Given the description of an element on the screen output the (x, y) to click on. 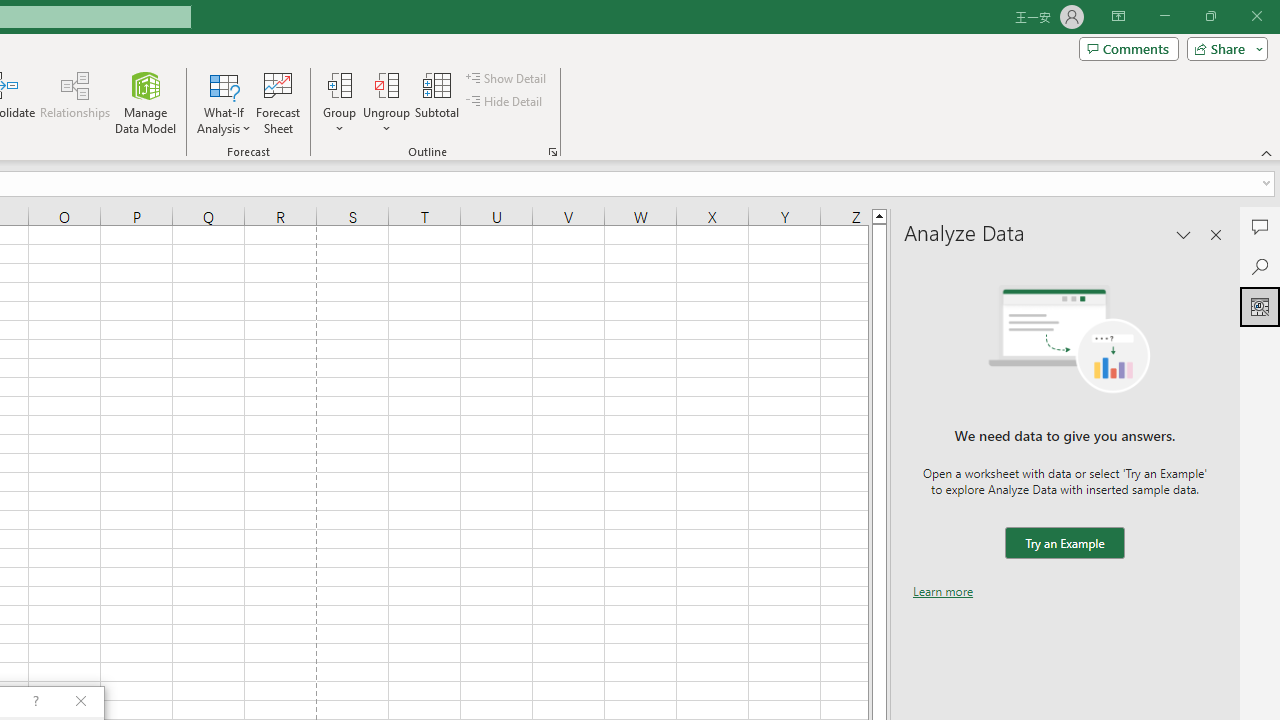
Show Detail (507, 78)
Learn more (943, 591)
What-If Analysis (223, 102)
Ungroup... (386, 102)
Search (1260, 266)
Task Pane Options (1183, 234)
Forecast Sheet (278, 102)
Group... (339, 84)
Minimize (1164, 16)
Group... (339, 102)
Manage Data Model (145, 102)
Close pane (1215, 234)
Analyze Data (1260, 306)
